Given the description of an element on the screen output the (x, y) to click on. 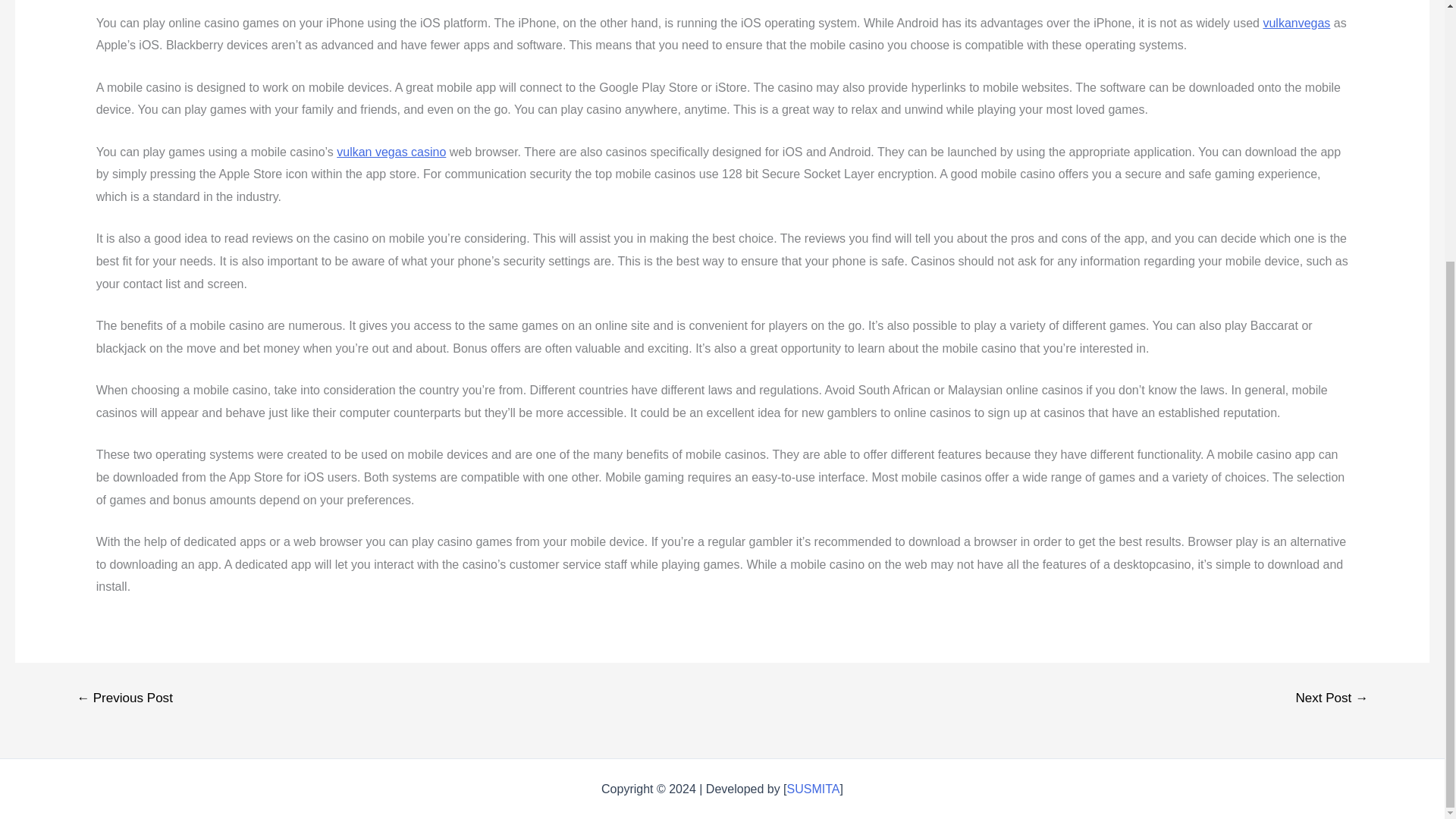
vulkan vegas casino (390, 151)
vulkanvegas (1296, 22)
SUSMITA (813, 788)
